Given the description of an element on the screen output the (x, y) to click on. 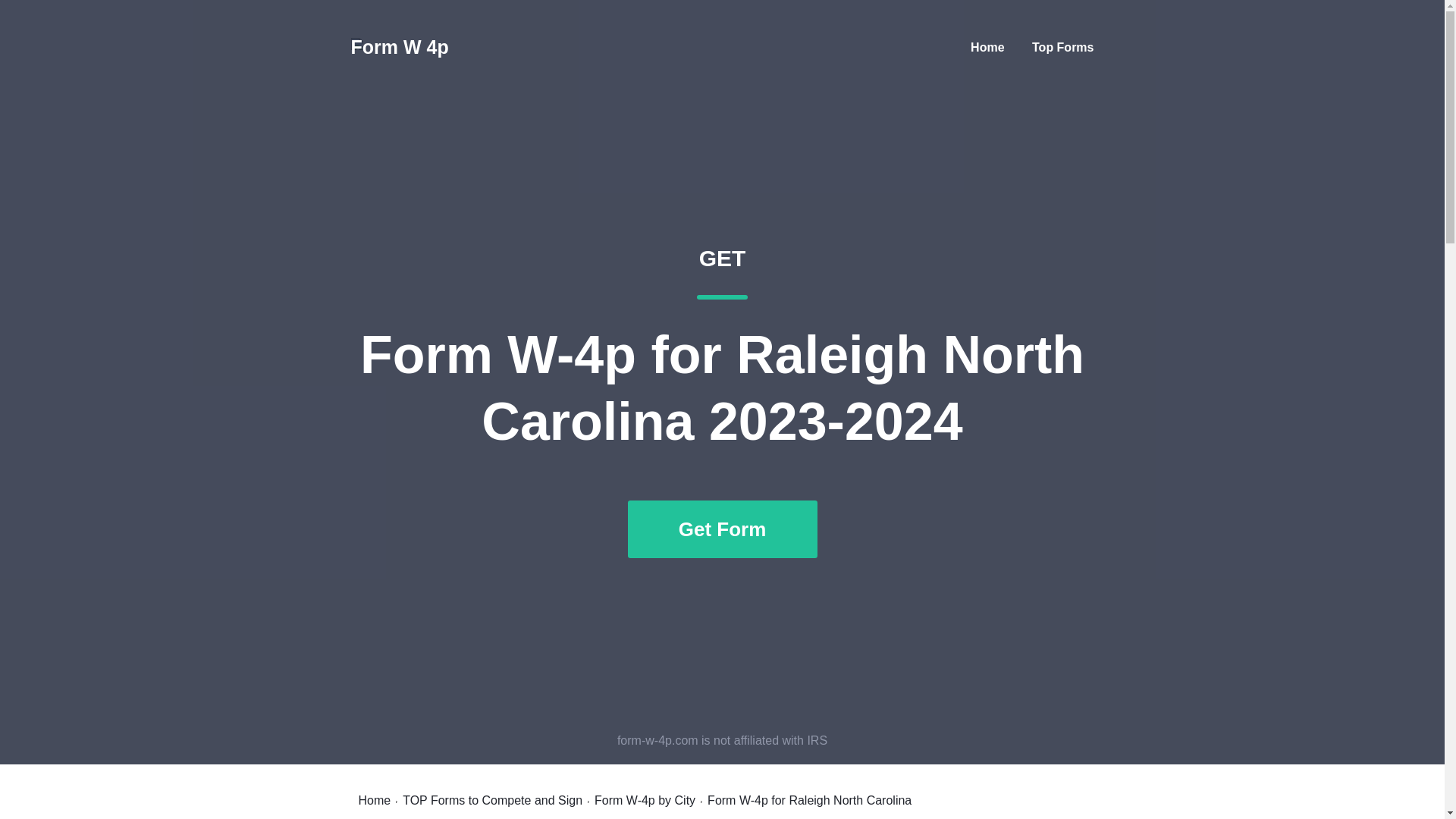
Home (374, 800)
TOP Forms to Compete and Sign (492, 800)
Form W-4p by City (644, 800)
Top Forms (1062, 47)
Home (987, 47)
Form W 4p (399, 46)
